Given the description of an element on the screen output the (x, y) to click on. 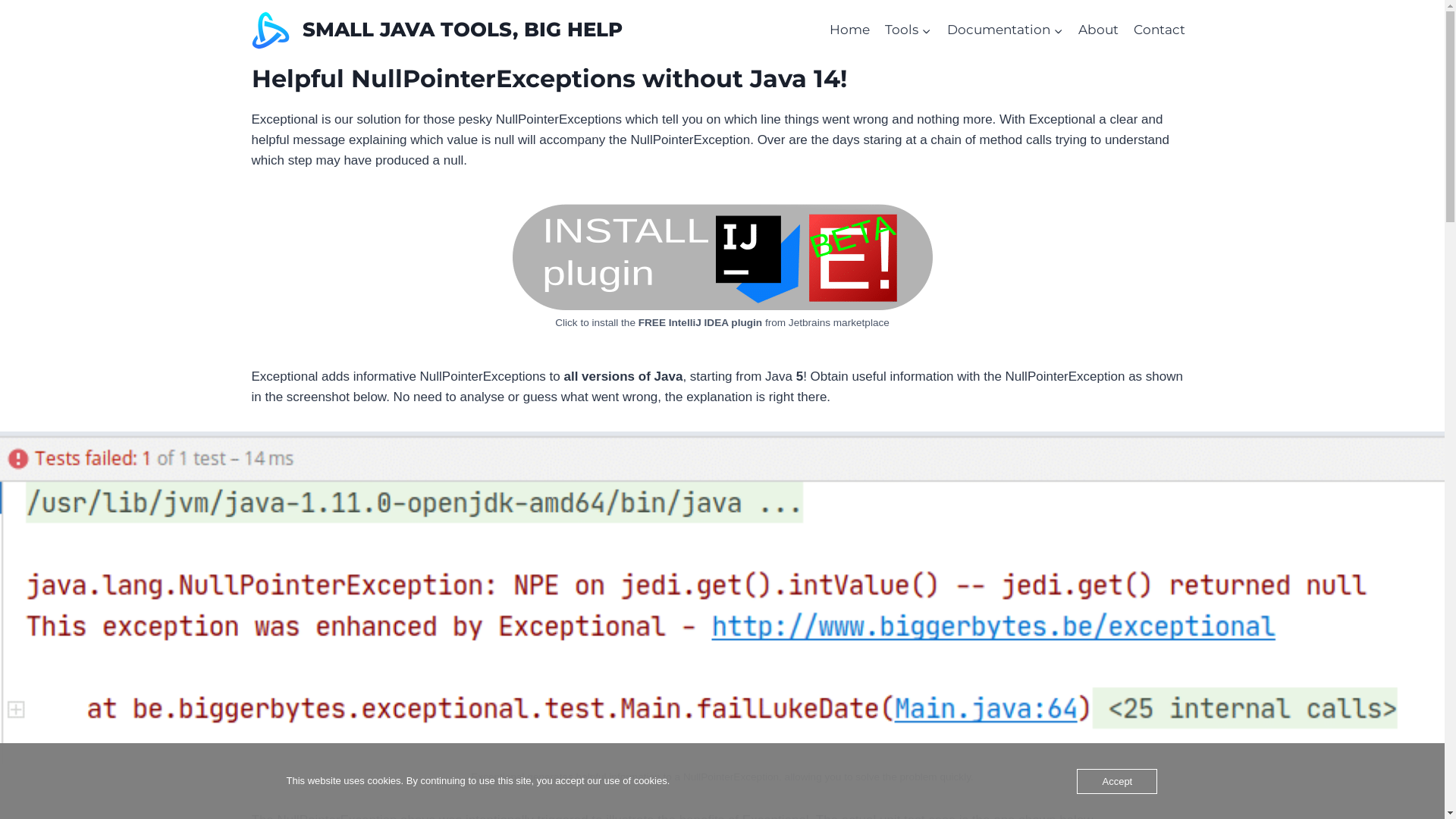
Accept Element type: text (1116, 780)
Tools Element type: text (907, 30)
Home Element type: text (849, 30)
SMALL JAVA TOOLS, BIG HELP Element type: text (436, 30)
Contact Element type: text (1159, 30)
About Element type: text (1098, 30)
Documentation Element type: text (1004, 30)
